Given the description of an element on the screen output the (x, y) to click on. 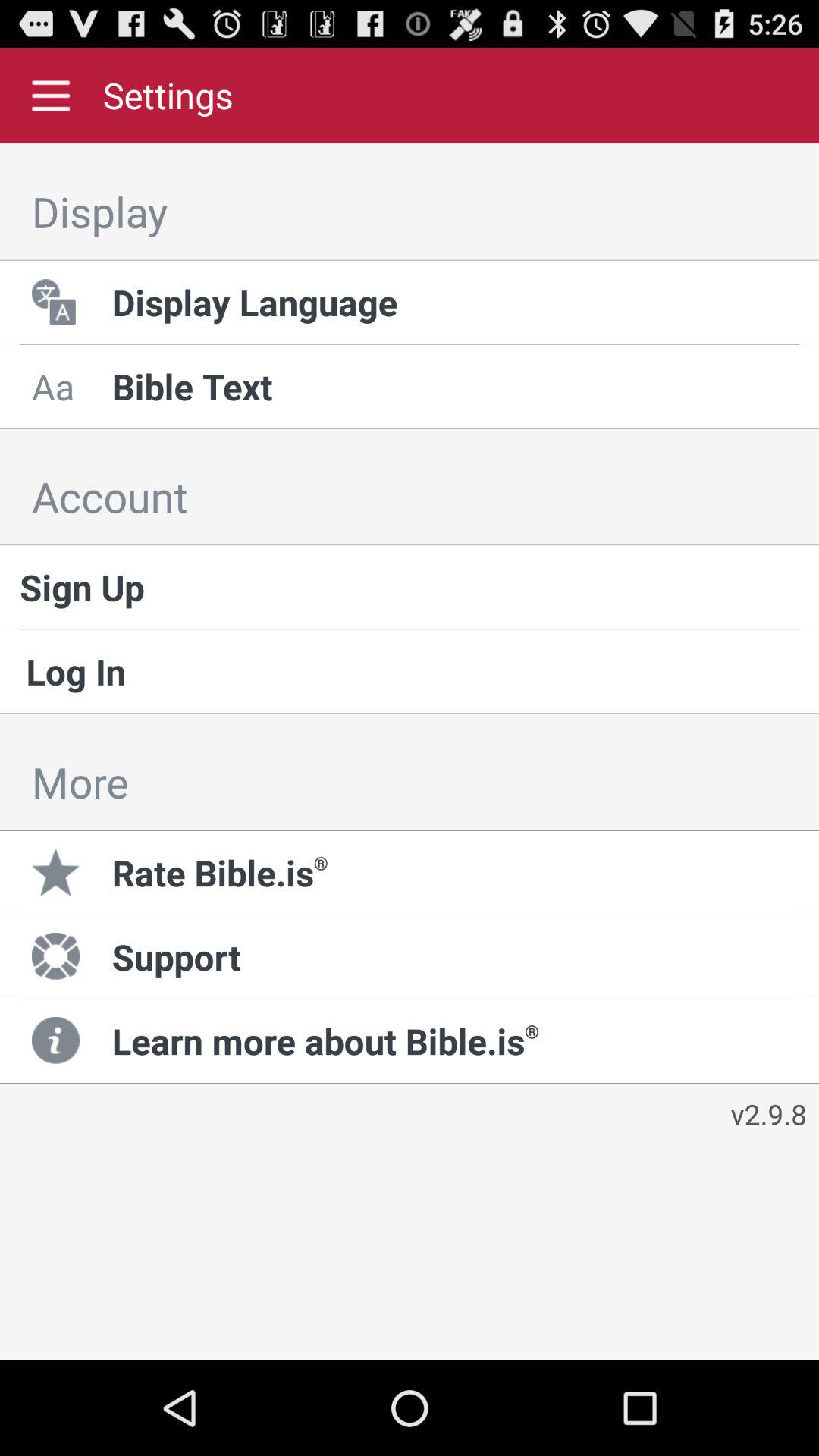
click on the icon which is below the star icon (58, 956)
click on the star icon (58, 872)
